Given the description of an element on the screen output the (x, y) to click on. 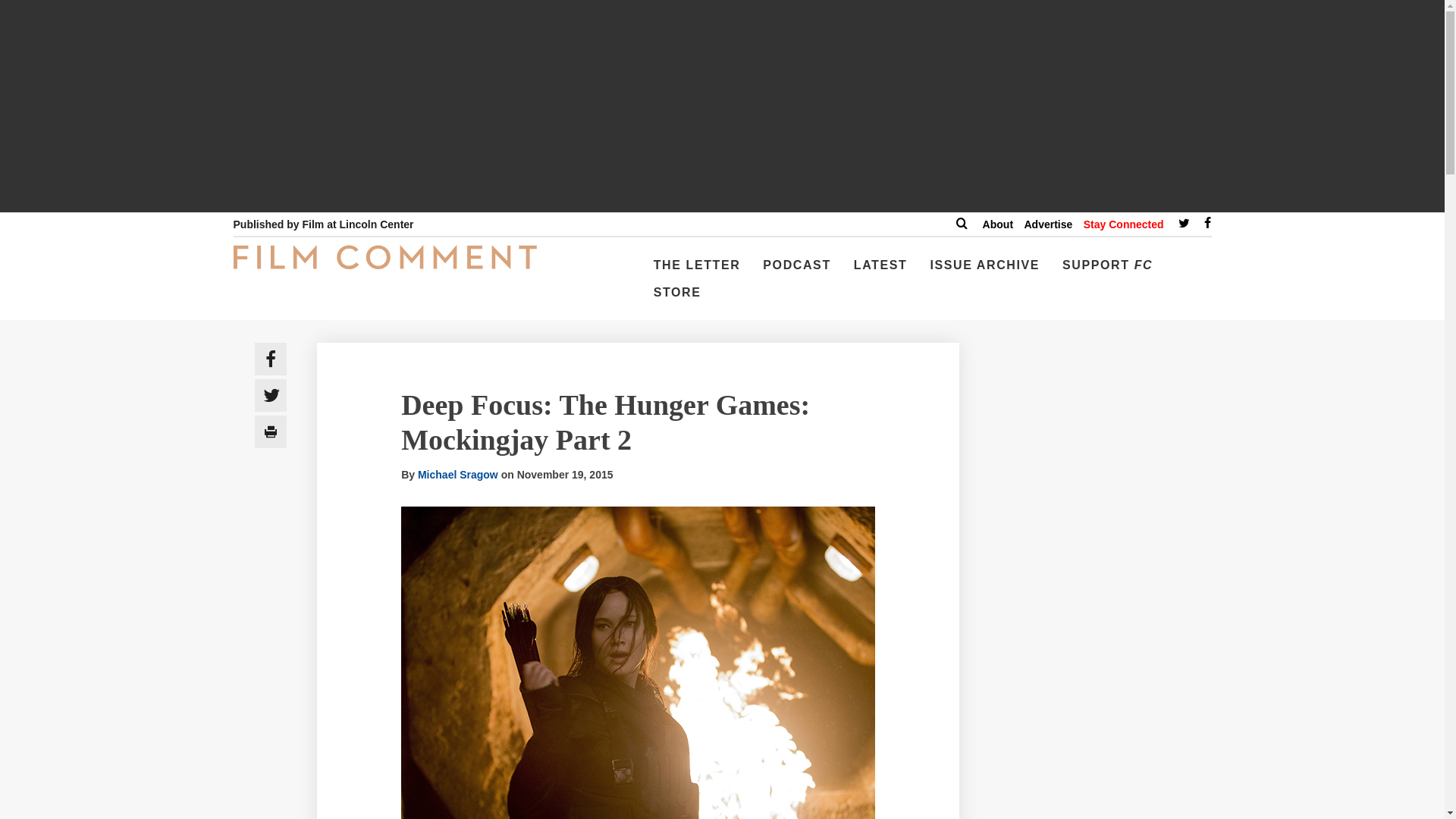
Advertise (1047, 224)
About (997, 224)
PODCAST (796, 271)
ISSUE ARCHIVE (983, 271)
3rd party ad content (1103, 642)
STORE (677, 298)
SUPPORT FC (1107, 271)
Stay Connected (1123, 224)
3rd party ad content (1103, 785)
